Given the description of an element on the screen output the (x, y) to click on. 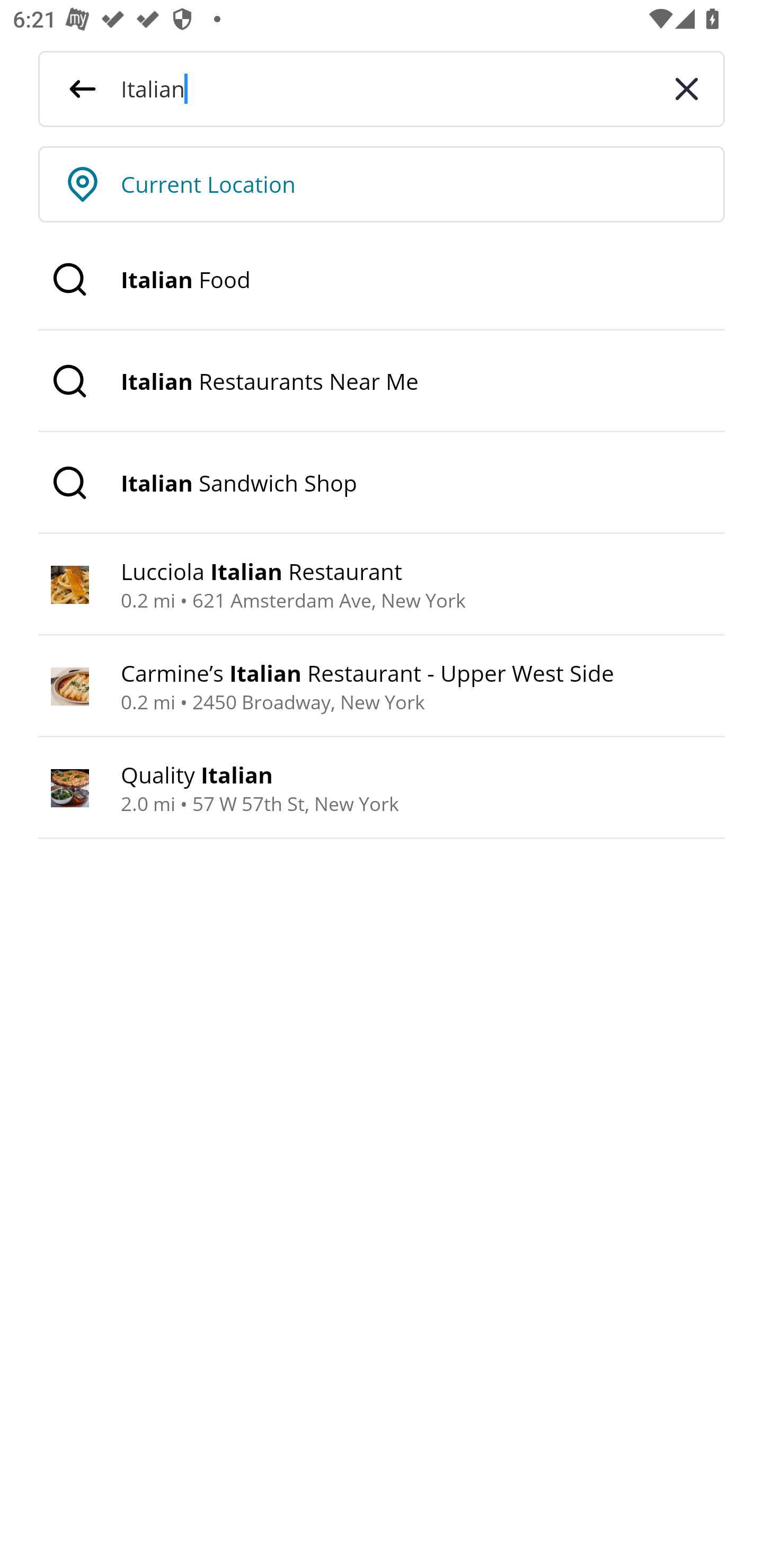
Italian Food (381, 279)
